Given the description of an element on the screen output the (x, y) to click on. 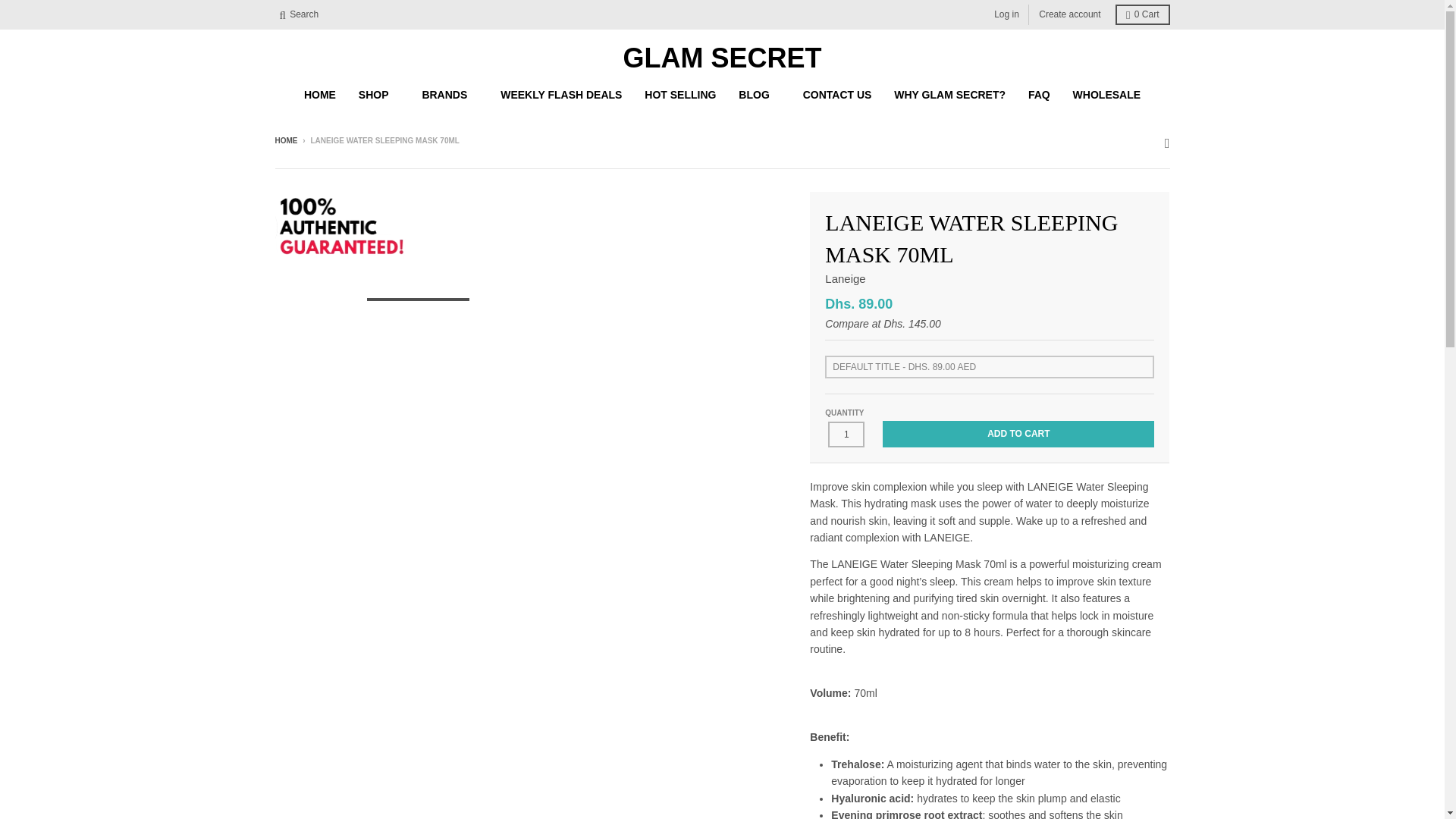
HOME (320, 94)
Laneige (844, 278)
0 Cart (1142, 14)
Back to the frontpage (286, 140)
Create account (1069, 14)
SHOP (379, 94)
Search (299, 14)
Log in (1006, 14)
GLAM SECRET (722, 58)
1 (846, 434)
